Given the description of an element on the screen output the (x, y) to click on. 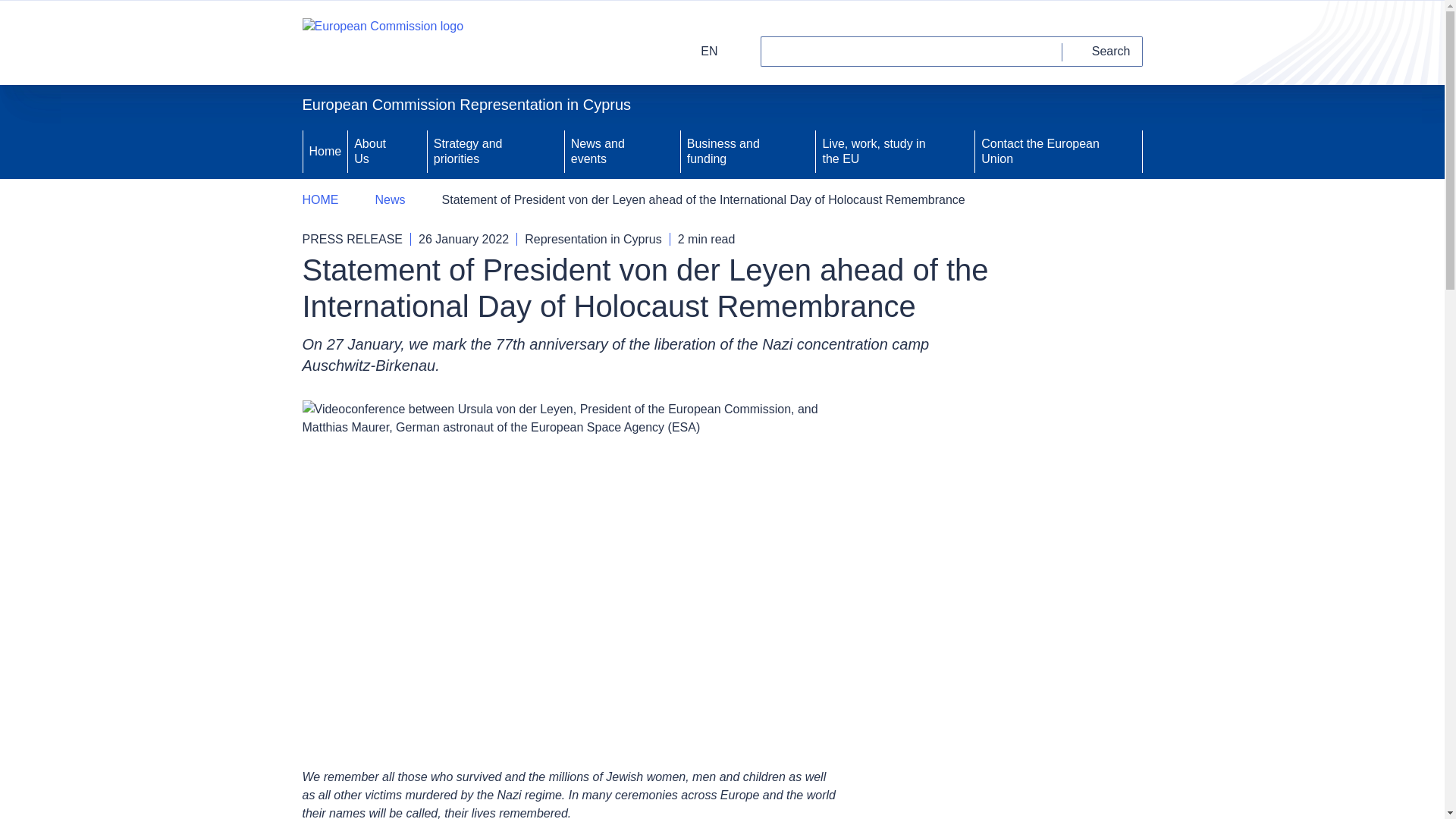
Strategy and priorities (479, 151)
News and events (605, 151)
Search (1102, 51)
Business and funding (732, 151)
EN (699, 51)
European Commission (382, 42)
